Given the description of an element on the screen output the (x, y) to click on. 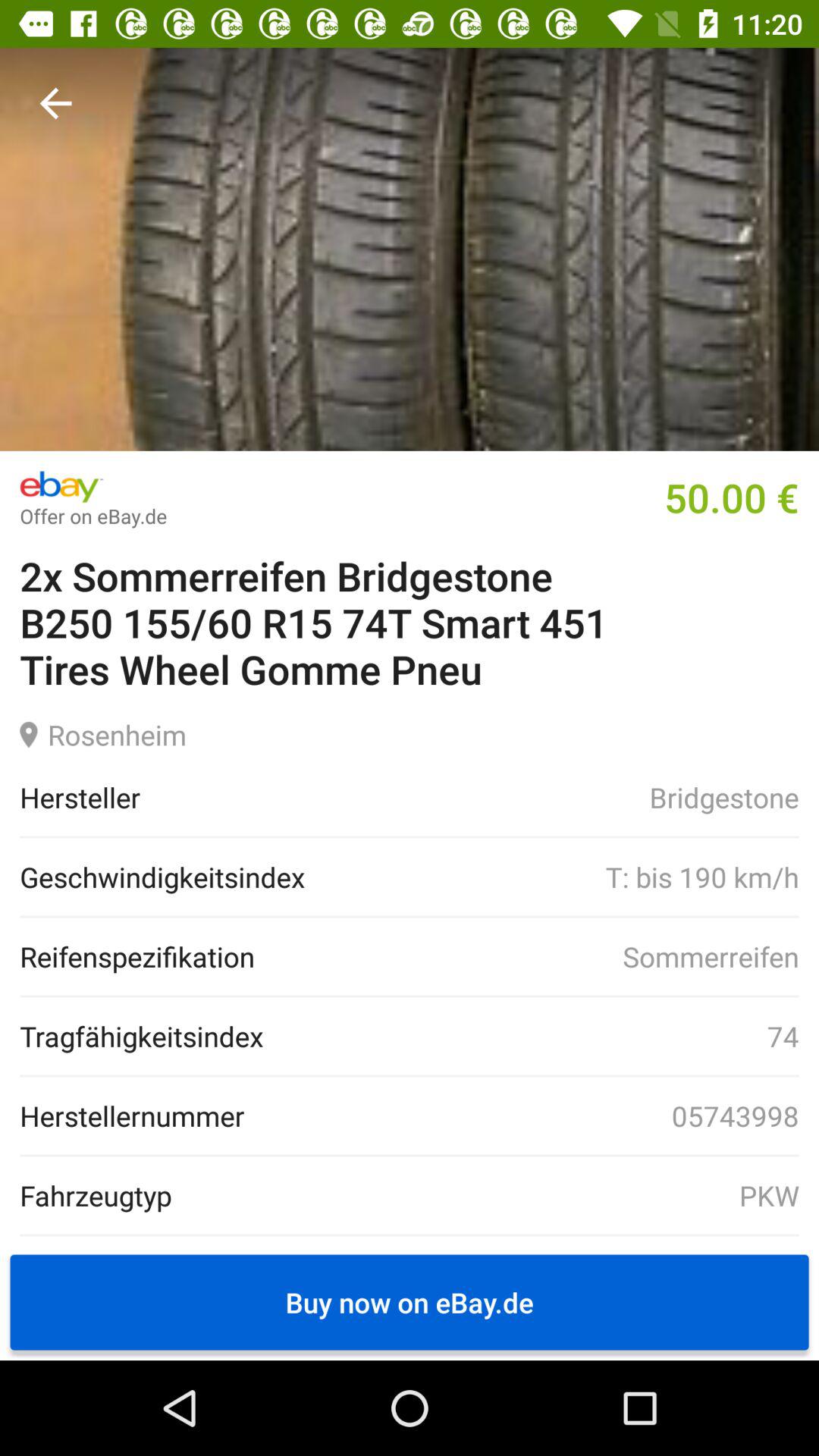
go (55, 103)
